Given the description of an element on the screen output the (x, y) to click on. 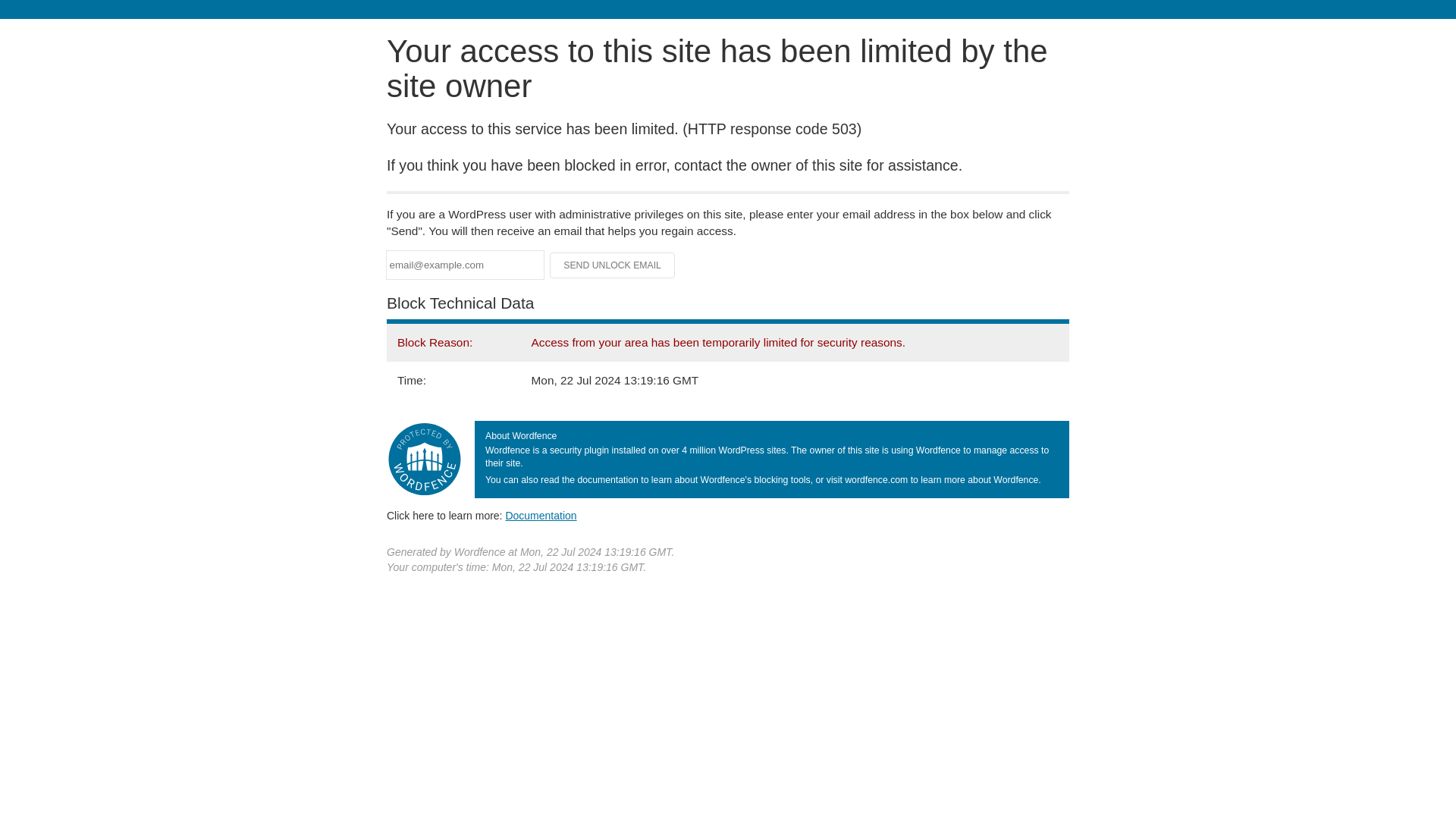
Send Unlock Email (612, 265)
Send Unlock Email (612, 265)
Documentation (540, 515)
